Given the description of an element on the screen output the (x, y) to click on. 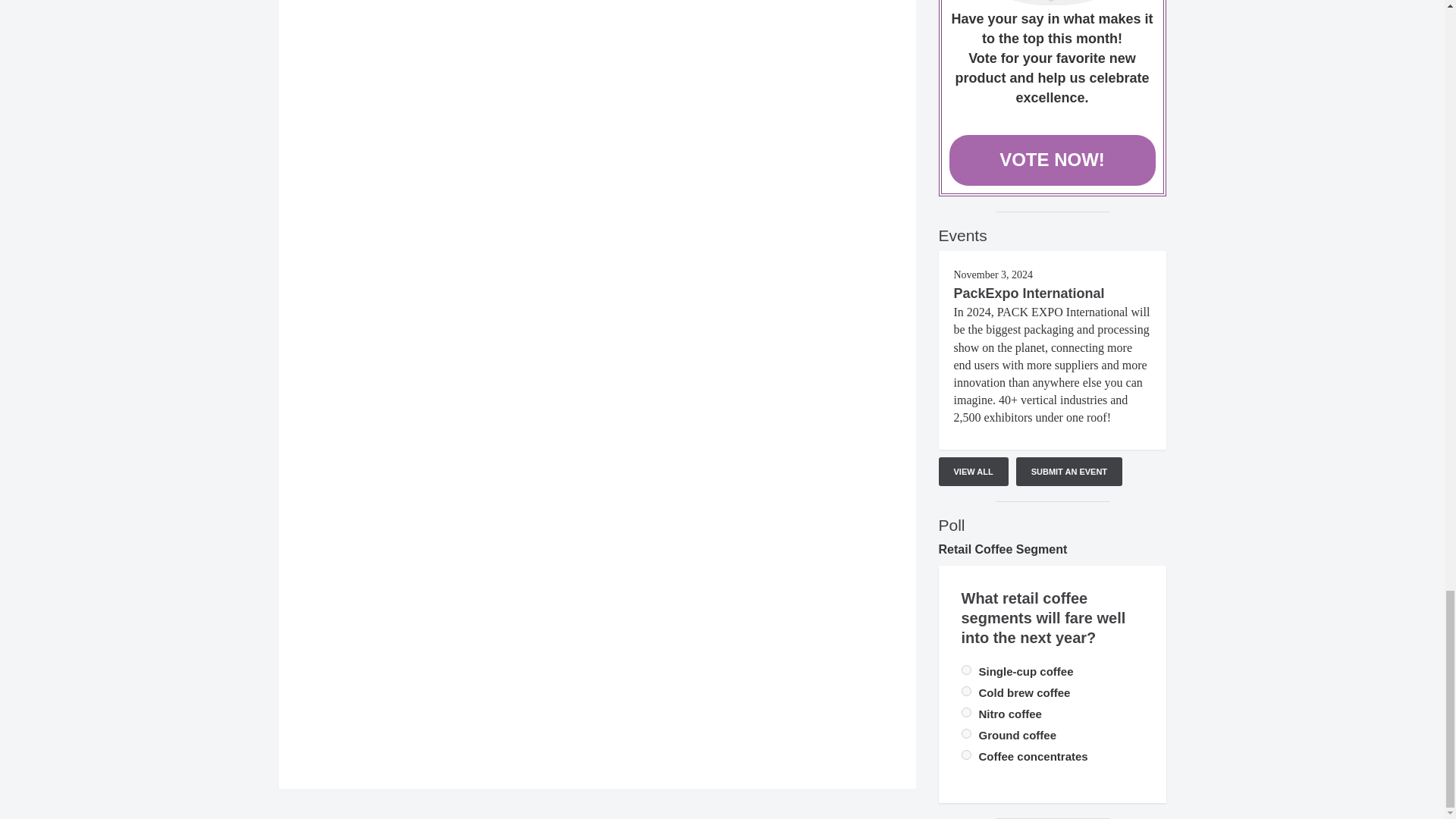
3093 (965, 691)
PackExpo International (1029, 293)
3095 (965, 755)
Vote (1052, 2)
3094 (965, 712)
3092 (965, 669)
3096 (965, 733)
